Given the description of an element on the screen output the (x, y) to click on. 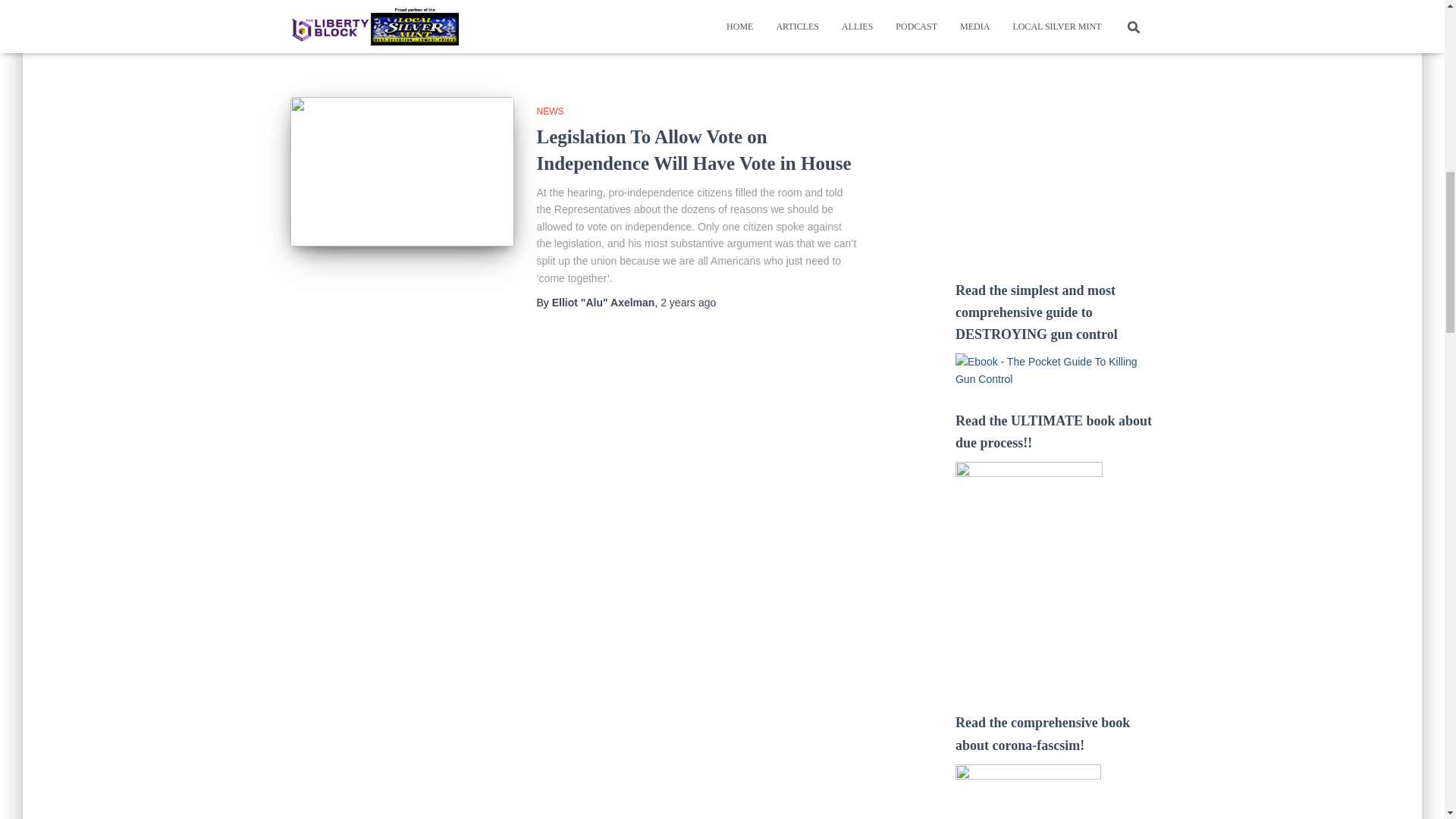
Elliot "Alu" Axelman (603, 302)
2 years ago (688, 302)
2 years ago (688, 37)
Elliot "Alu" Axelman (603, 37)
NEWS (550, 111)
Elliot "Alu" Axelman (603, 37)
